Given the description of an element on the screen output the (x, y) to click on. 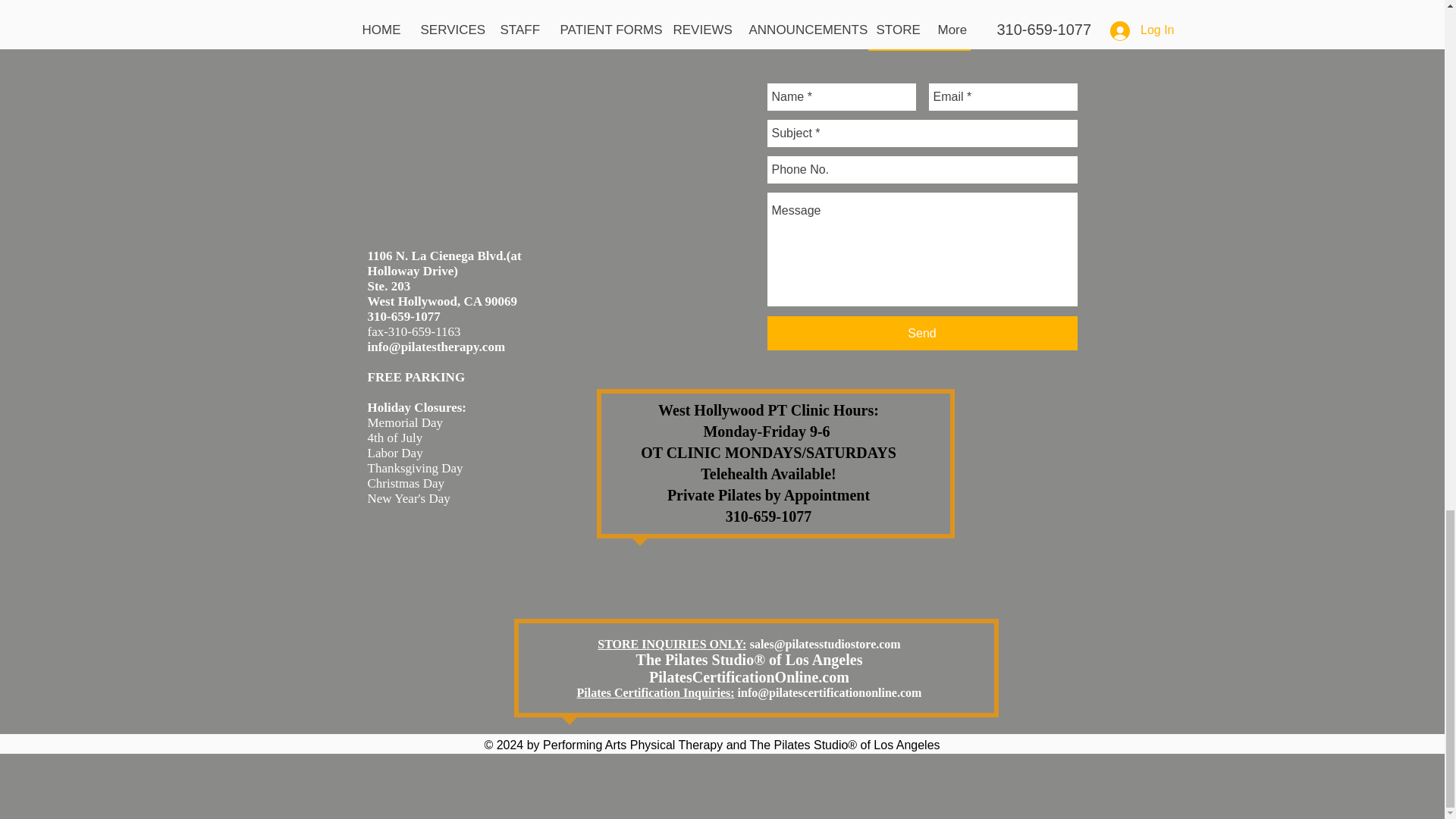
Send (922, 333)
